Given the description of an element on the screen output the (x, y) to click on. 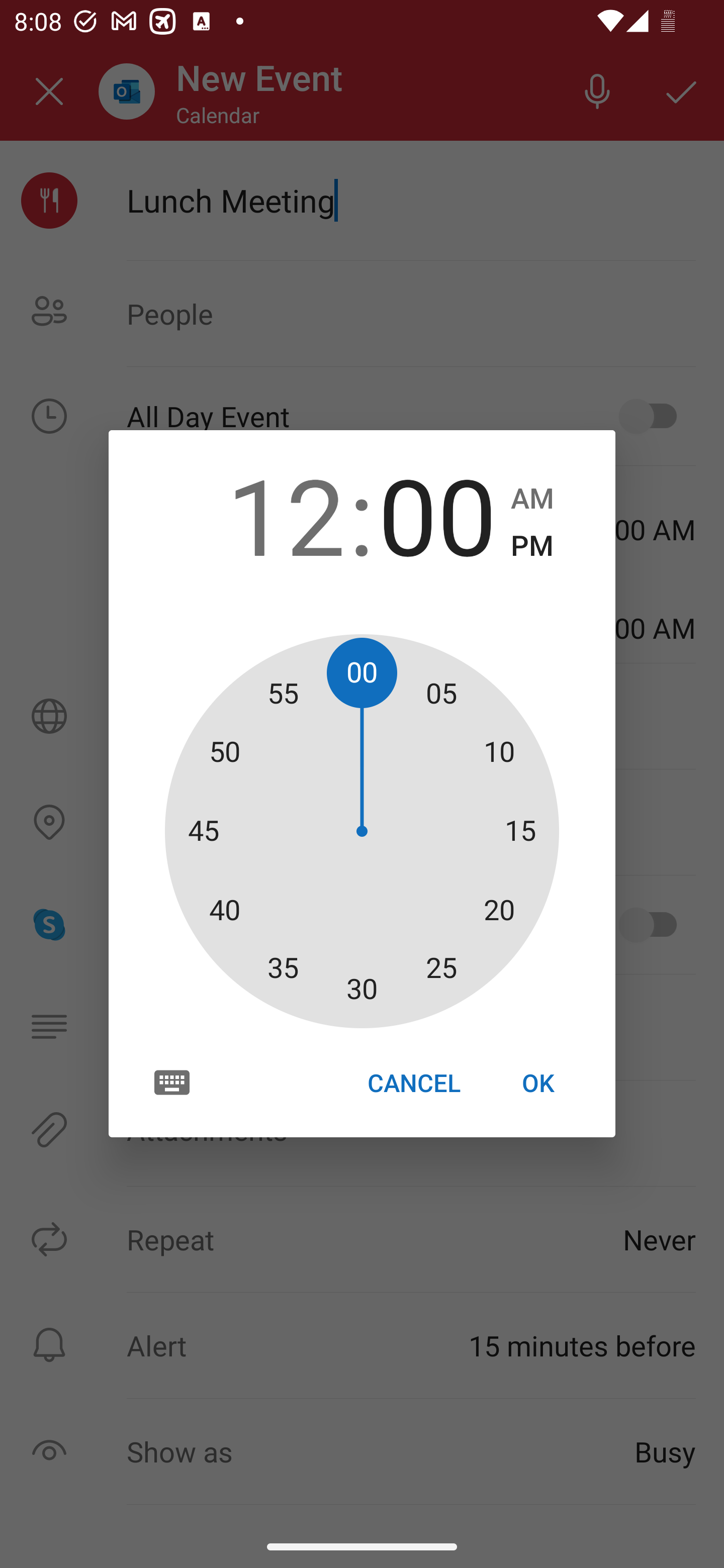
12 (285, 513)
00 (436, 513)
AM (532, 498)
PM (532, 546)
CANCEL (413, 1082)
OK (537, 1082)
Switch to text input mode for the time input. (171, 1081)
